Given the description of an element on the screen output the (x, y) to click on. 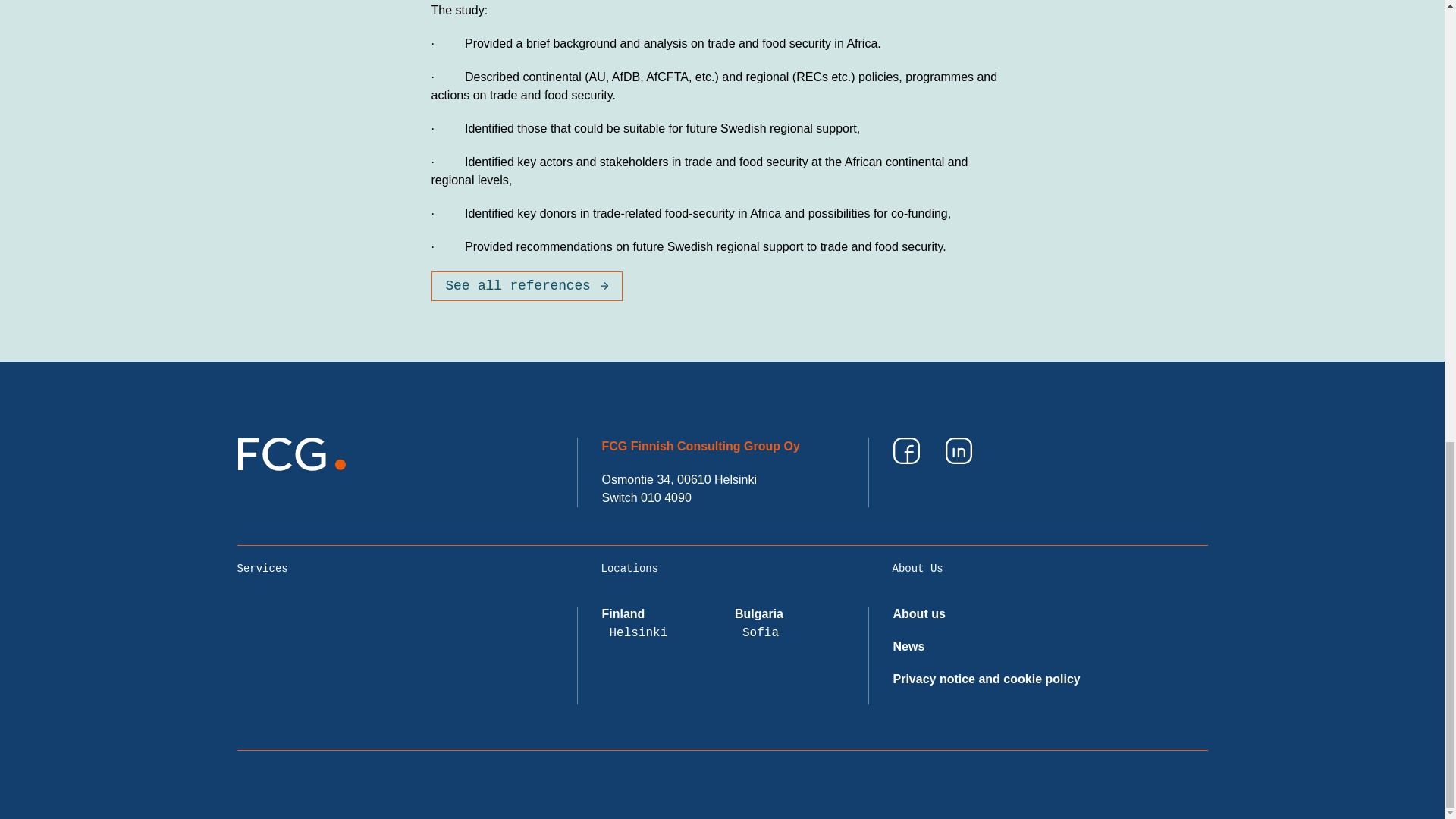
See all references (526, 286)
Finland (623, 613)
Bulgaria (759, 613)
Sofia (760, 632)
Privacy notice and cookie policy (986, 678)
About us (918, 613)
News (908, 645)
Helsinki (639, 632)
